Given the description of an element on the screen output the (x, y) to click on. 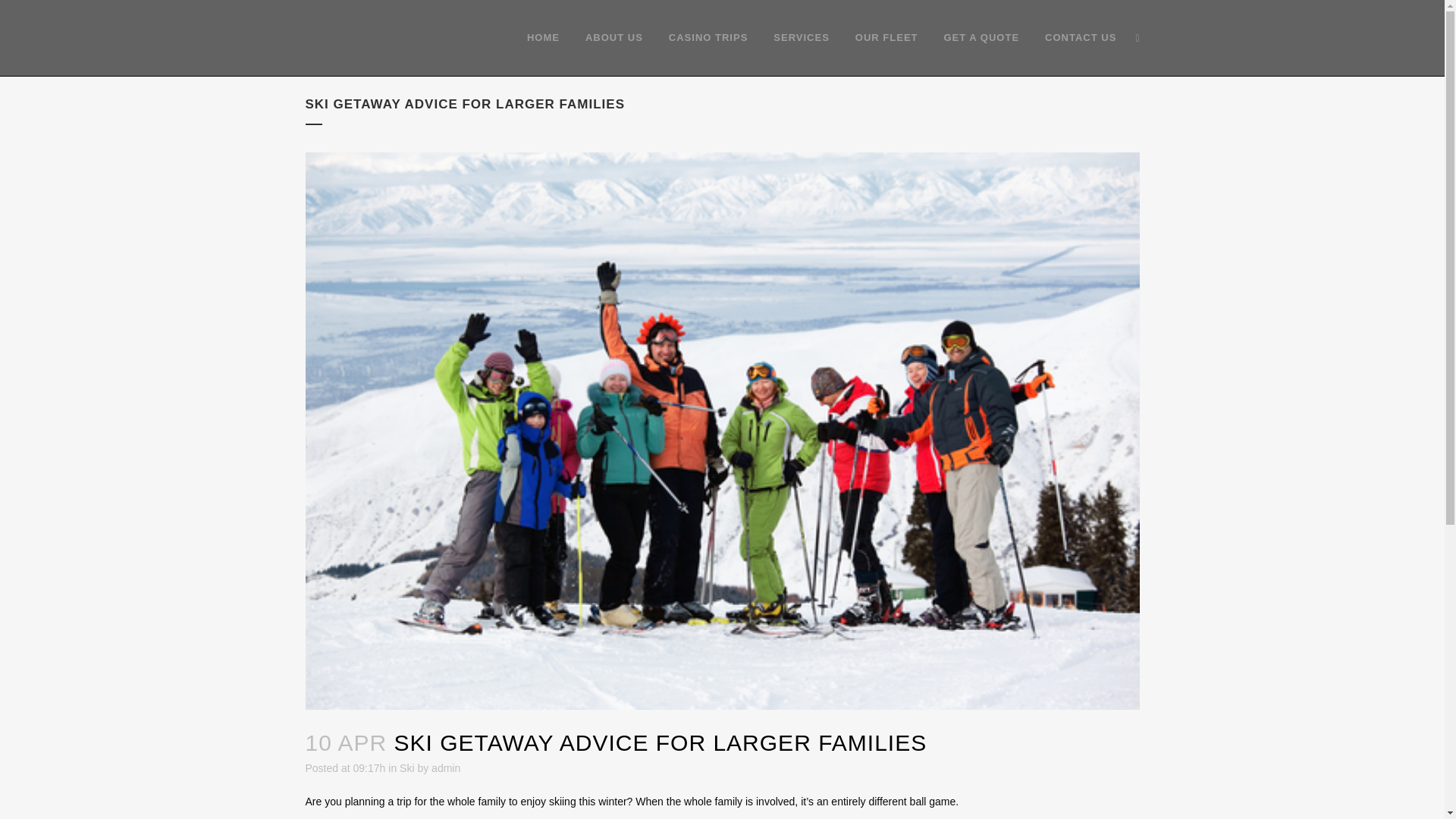
GET A QUOTE (981, 38)
SERVICES (801, 38)
CASINO TRIPS (708, 38)
CONTACT US (1080, 38)
Ski (405, 767)
ABOUT US (614, 38)
OUR FLEET (887, 38)
